Given the description of an element on the screen output the (x, y) to click on. 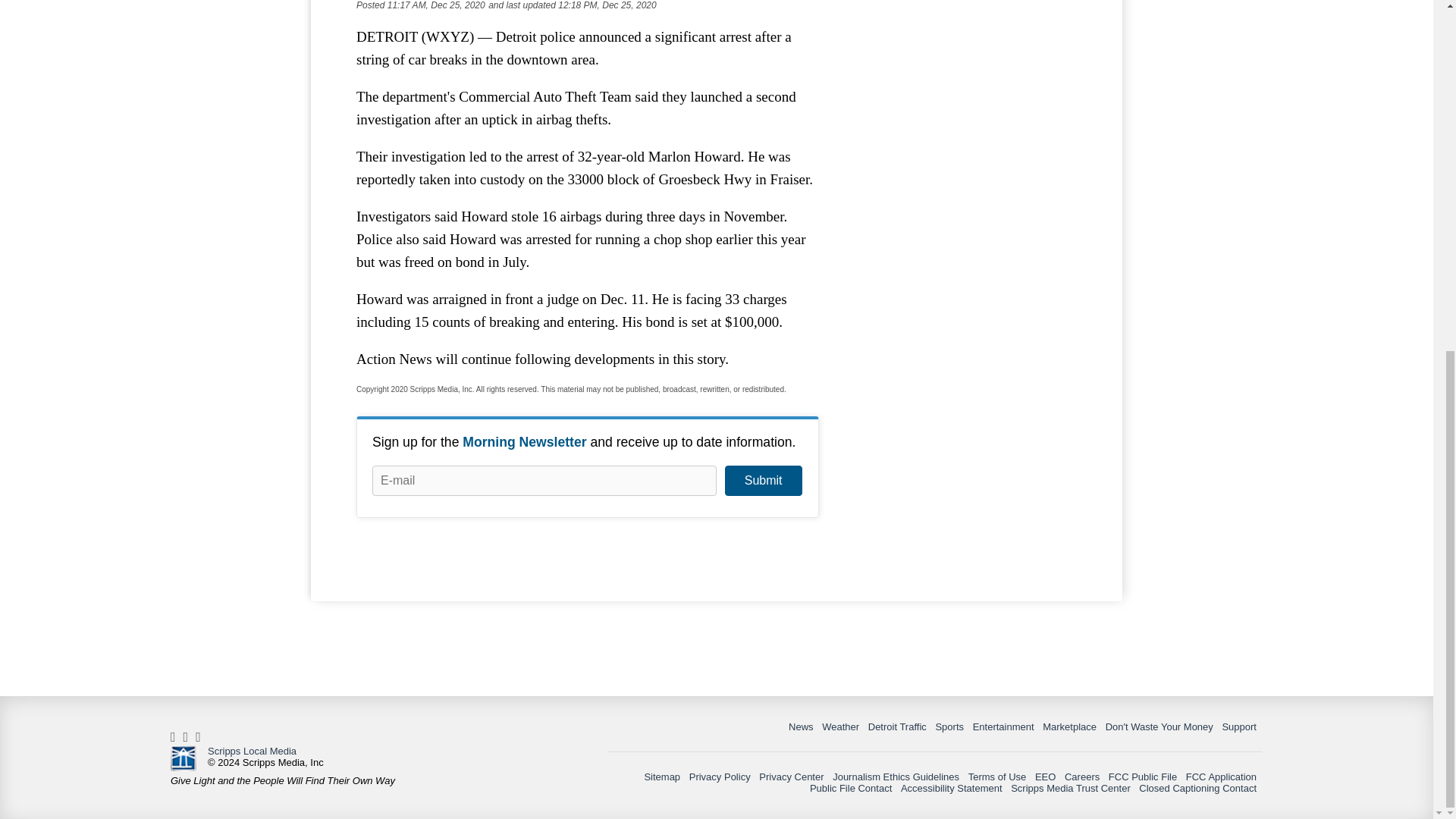
Submit (763, 481)
